Given the description of an element on the screen output the (x, y) to click on. 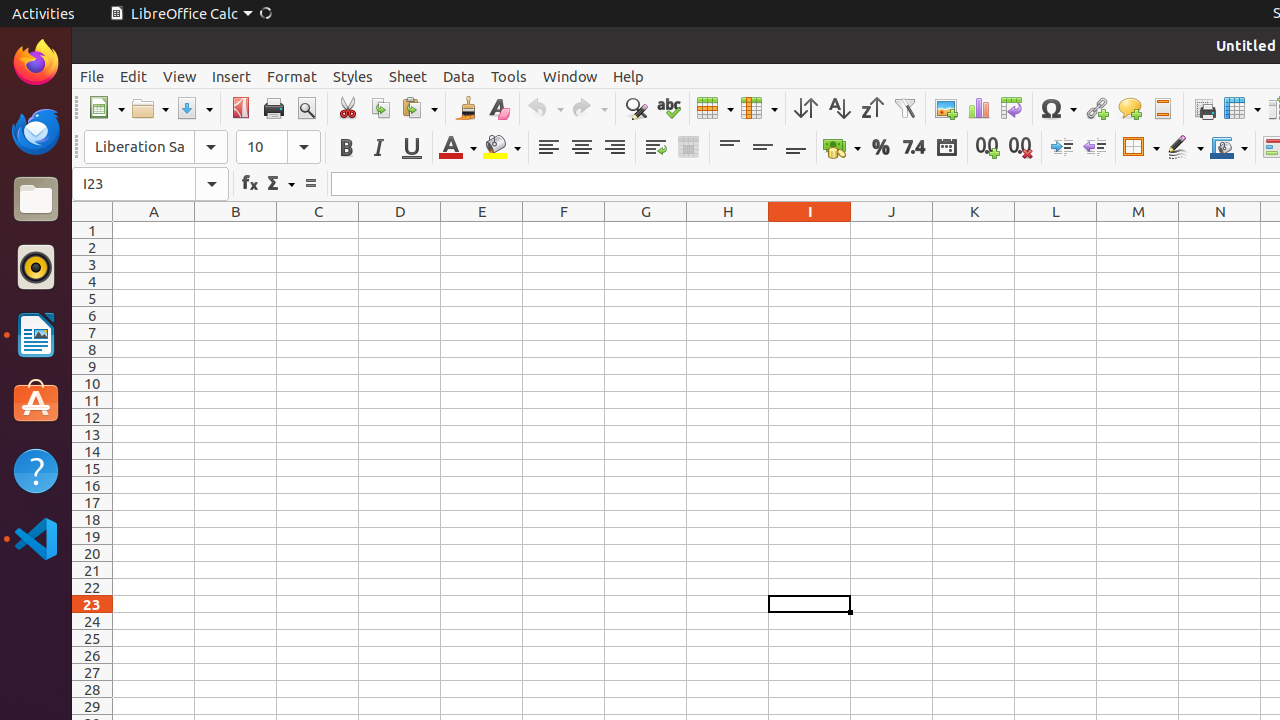
Align Top Element type: push-button (729, 147)
C1 Element type: table-cell (318, 230)
Print Preview Element type: toggle-button (306, 108)
